Given the description of an element on the screen output the (x, y) to click on. 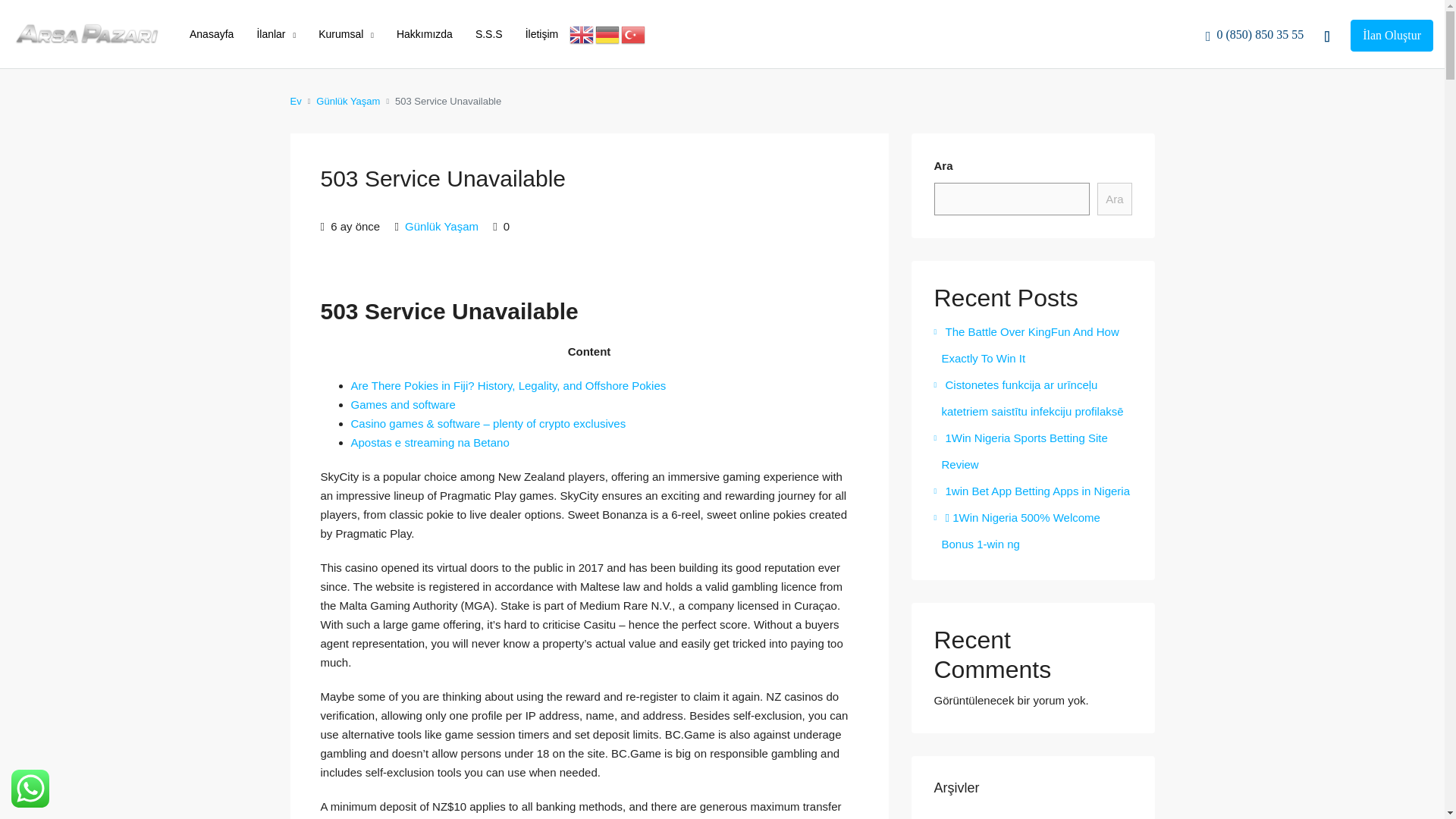
German (608, 33)
English (582, 33)
Kurumsal (346, 34)
Anasayfa (210, 33)
Turkish (633, 33)
